Given the description of an element on the screen output the (x, y) to click on. 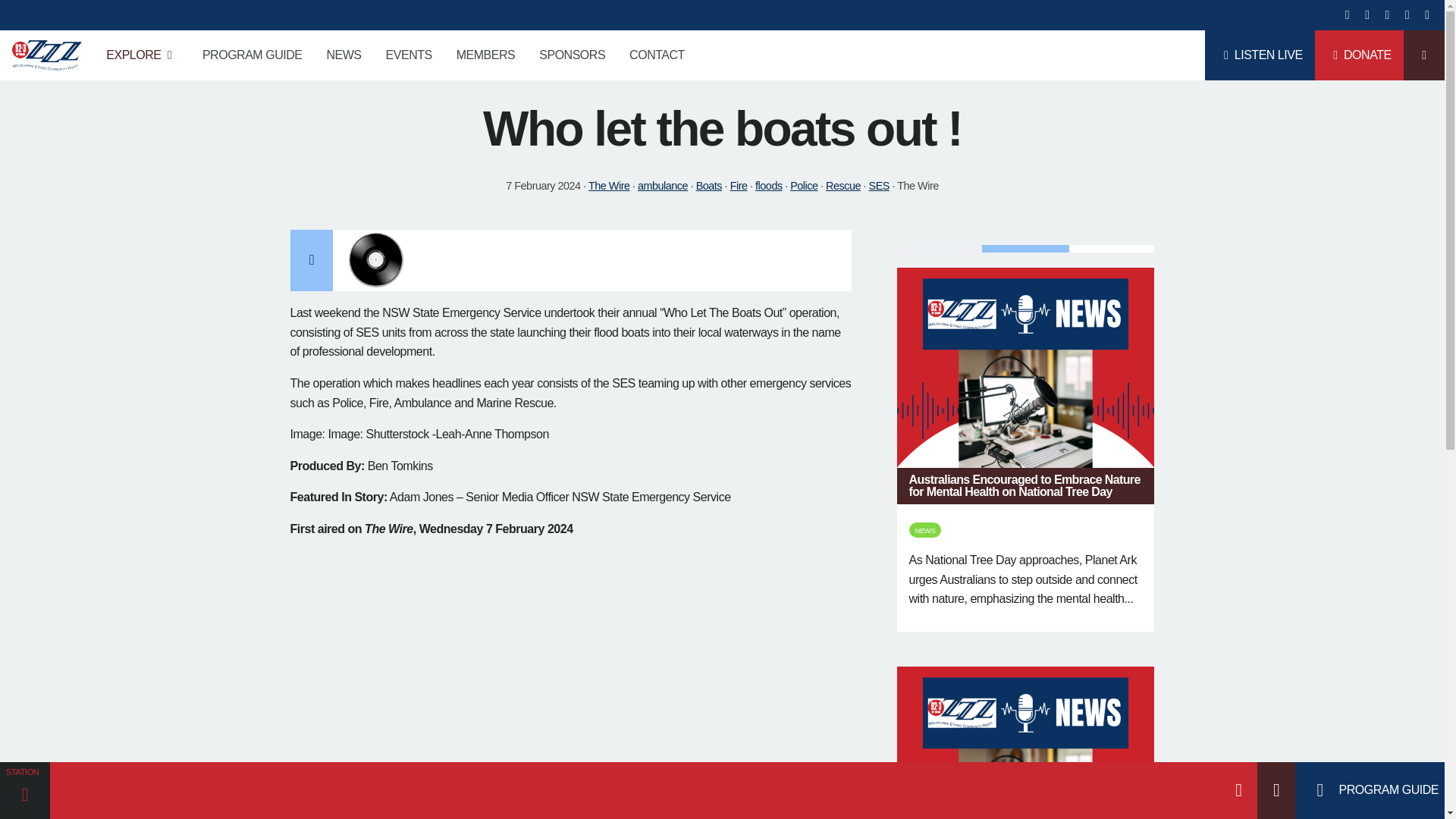
NEWS (343, 55)
EVENTS (409, 55)
EXPLORE (142, 55)
MEMBERS (485, 55)
DONATE (1358, 55)
SPONSORS (572, 55)
CONTACT (657, 55)
